Given the description of an element on the screen output the (x, y) to click on. 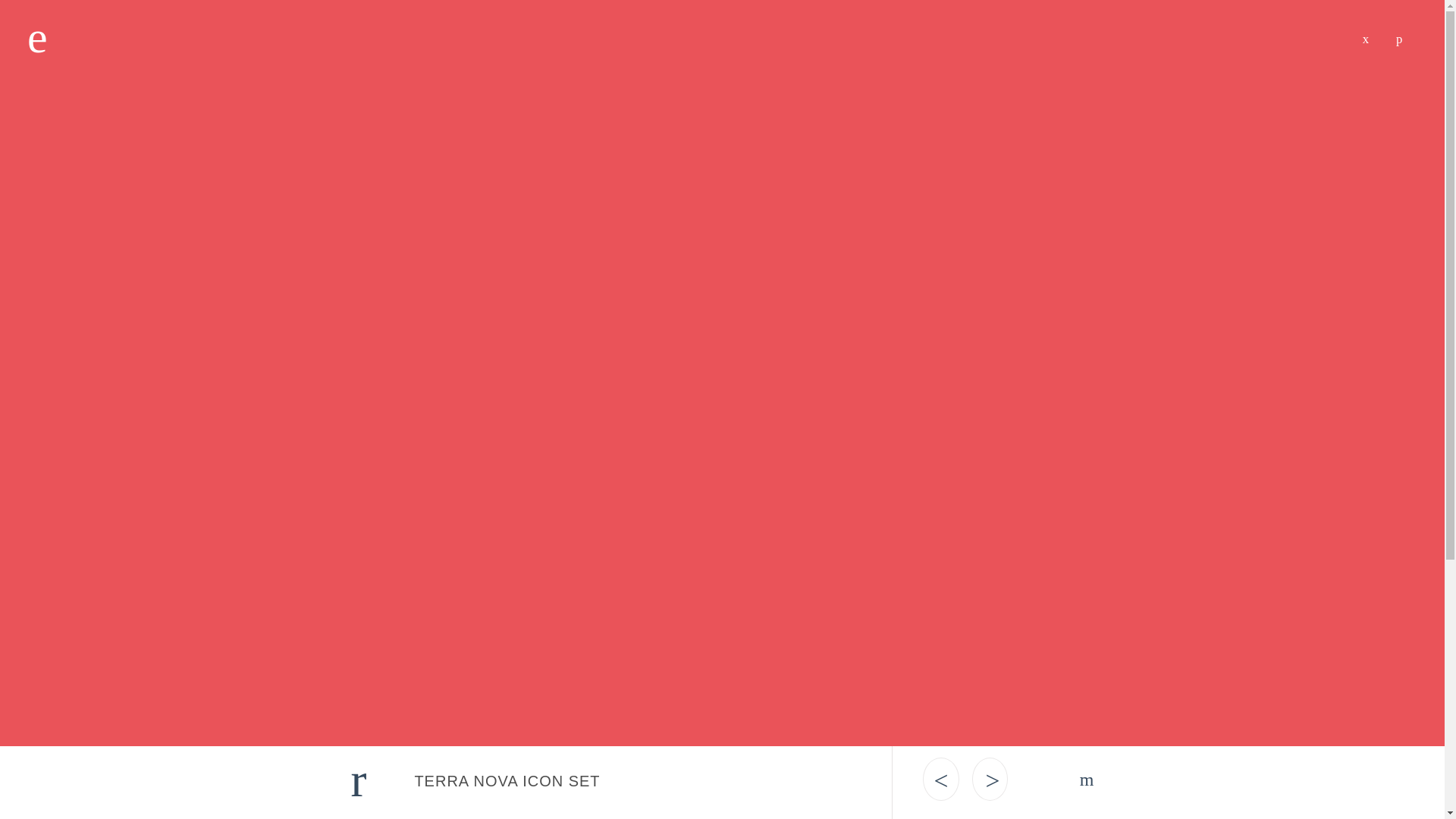
p (1399, 36)
m (1087, 779)
e (37, 36)
x (1365, 36)
